Given the description of an element on the screen output the (x, y) to click on. 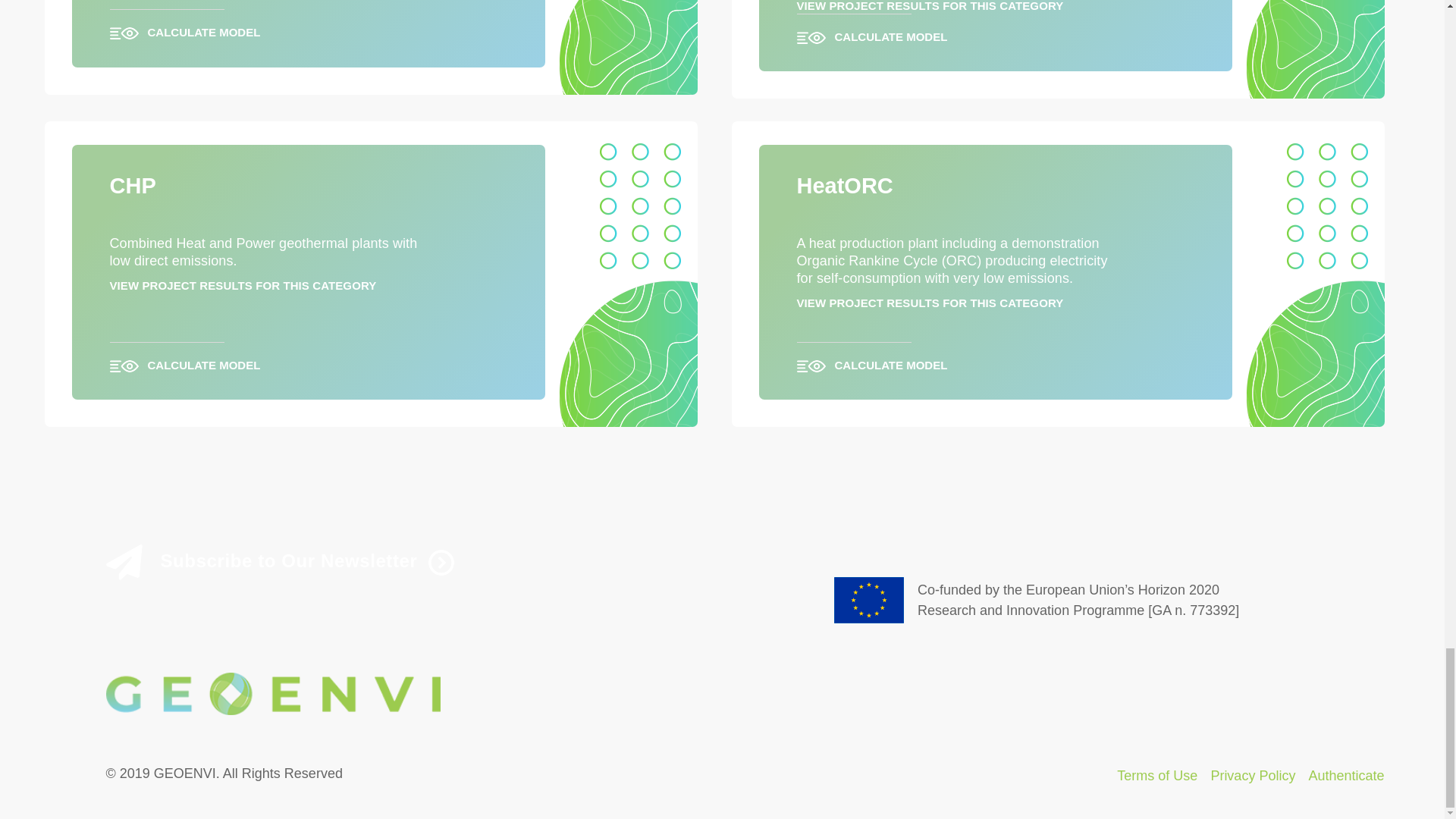
CALCULATE MODEL (307, 25)
Authenticate (1345, 775)
CALCULATE MODEL (307, 358)
CALCULATE MODEL (994, 358)
Subscribe to Our Newsletter (409, 561)
Privacy Policy (1252, 775)
CALCULATE MODEL (994, 29)
VIEW PROJECT RESULTS FOR THIS CATEGORY (929, 302)
Terms of Use (1156, 775)
VIEW PROJECT RESULTS FOR THIS CATEGORY (242, 285)
